Given the description of an element on the screen output the (x, y) to click on. 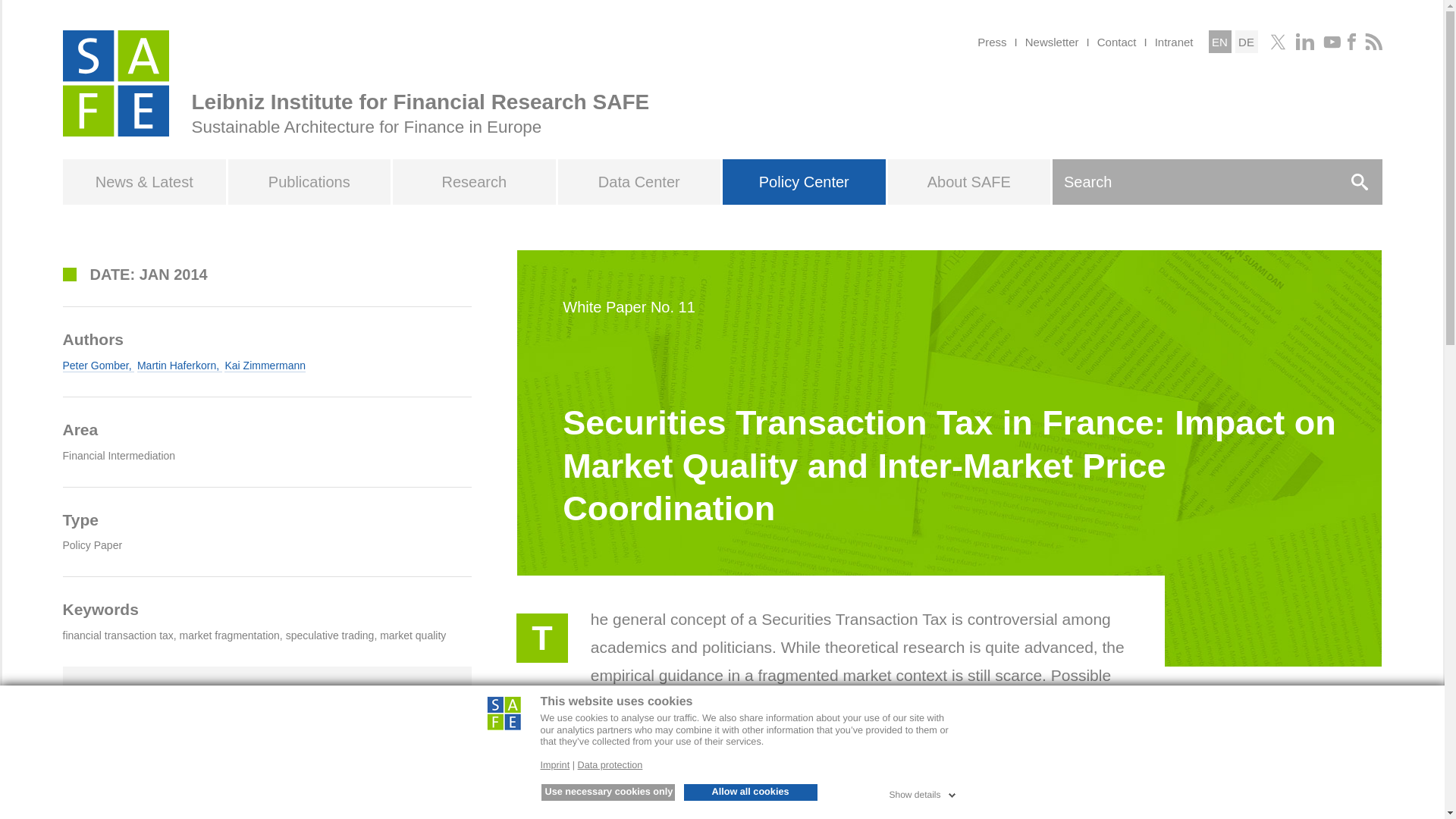
Data protection (610, 765)
Imprint (554, 765)
Use necessary cookies only (608, 791)
Show details (923, 791)
Allow all cookies (750, 791)
